Given the description of an element on the screen output the (x, y) to click on. 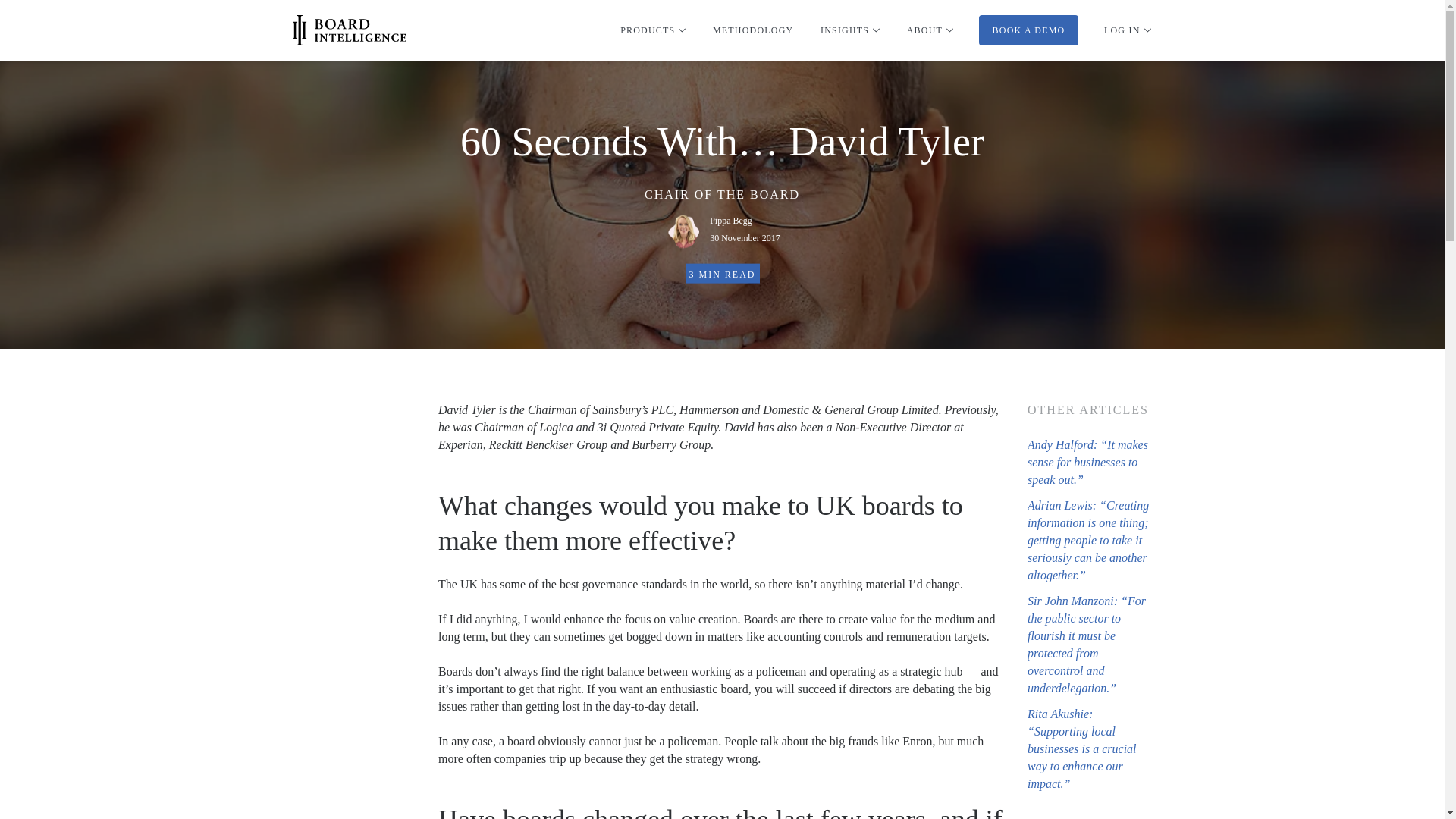
View Pippa Begg Page (745, 229)
BOOK A DEMO (1028, 30)
METHODOLOGY (745, 229)
